Given the description of an element on the screen output the (x, y) to click on. 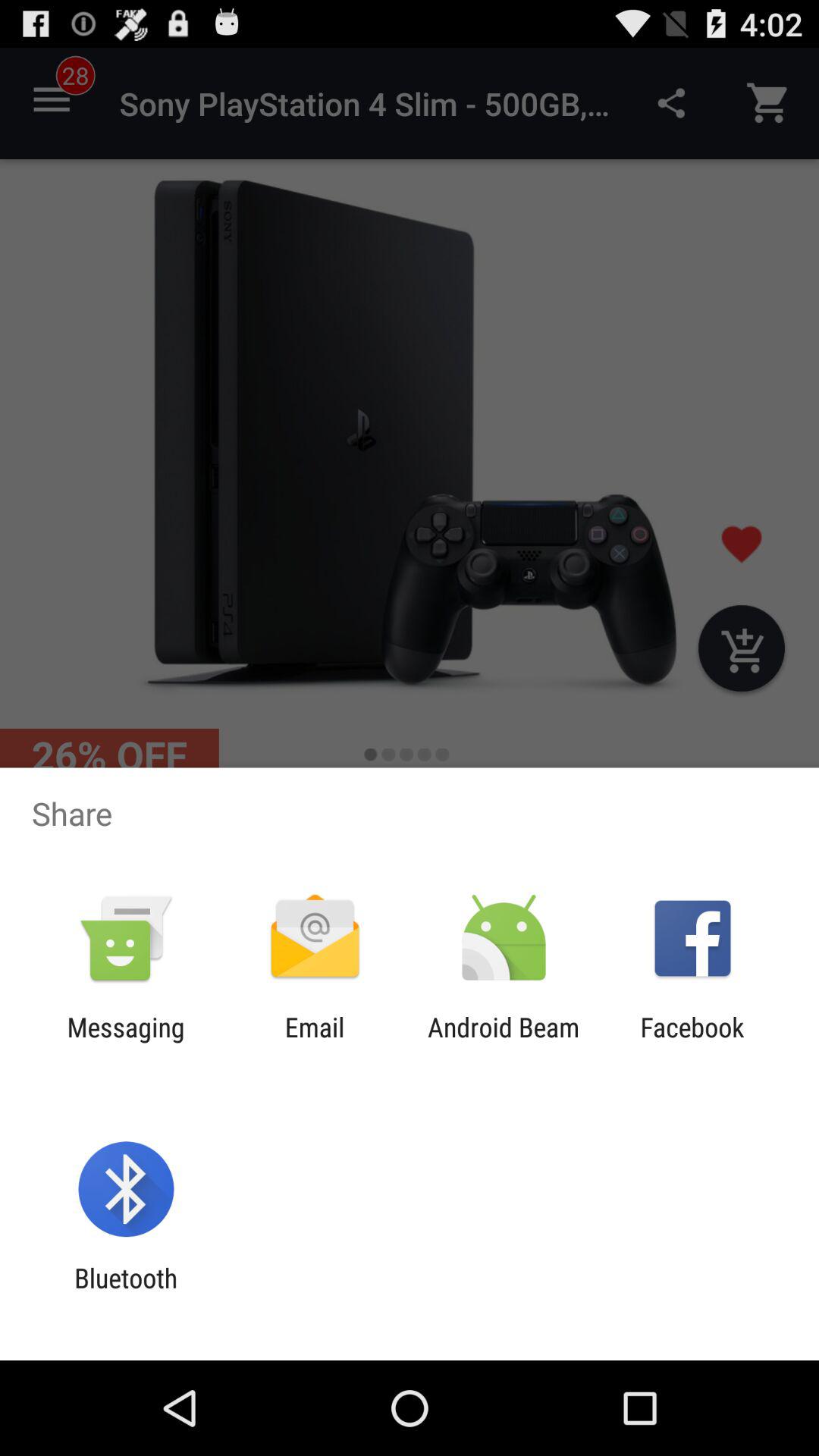
select icon next to the android beam (692, 1042)
